Given the description of an element on the screen output the (x, y) to click on. 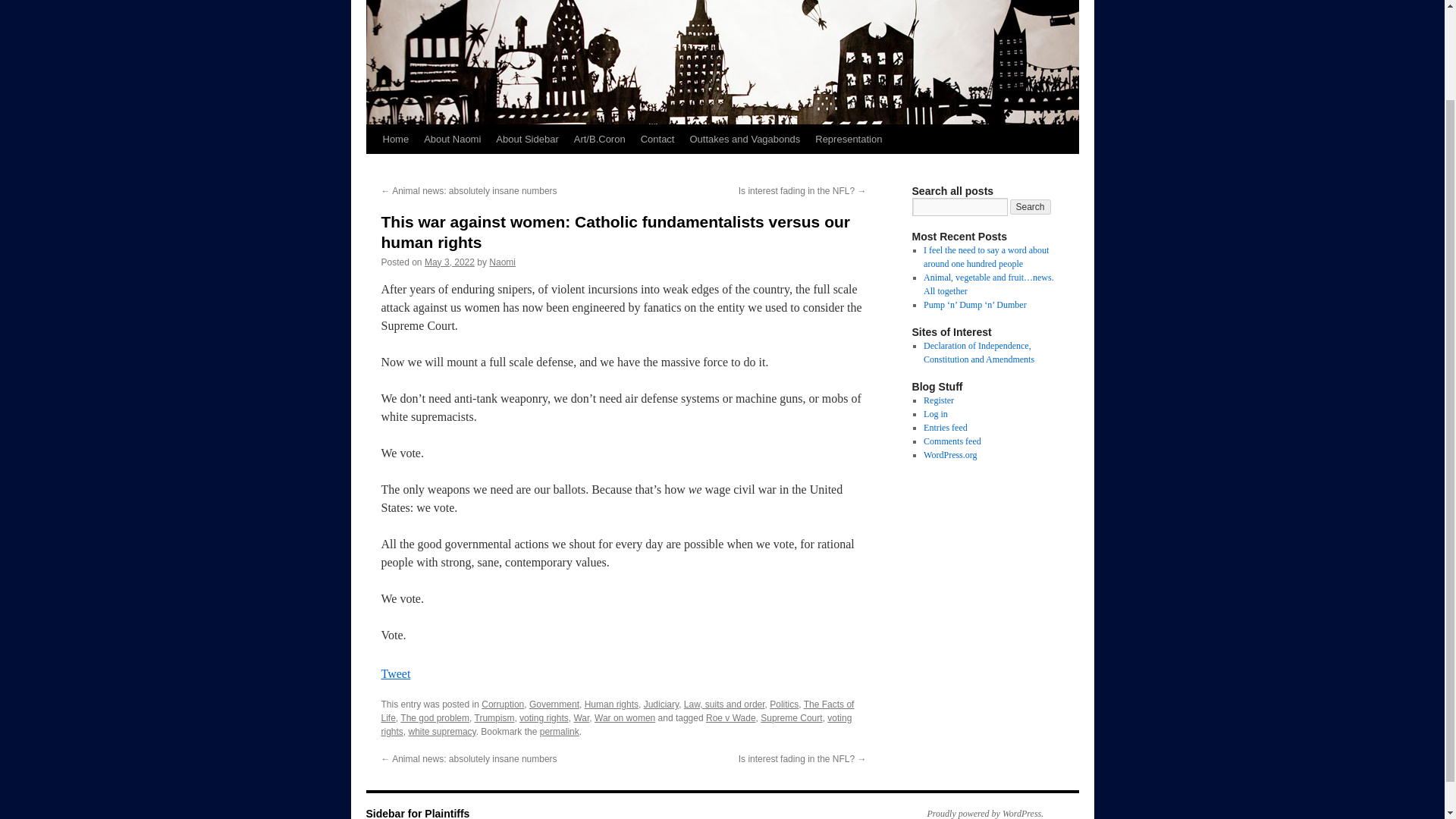
Outtakes and Vagabonds (744, 139)
Search (1030, 206)
War on women (624, 717)
Naomi (502, 262)
The god problem (434, 717)
Trumpism (494, 717)
Tweet (395, 673)
The entire text of the Declaration of Independence (978, 352)
Government (554, 704)
3:34 pm (449, 262)
Declaration of Independence, Constitution and Amendments (978, 352)
The Facts of Life (616, 711)
Representation (848, 139)
Corruption (502, 704)
Home (395, 139)
